Given the description of an element on the screen output the (x, y) to click on. 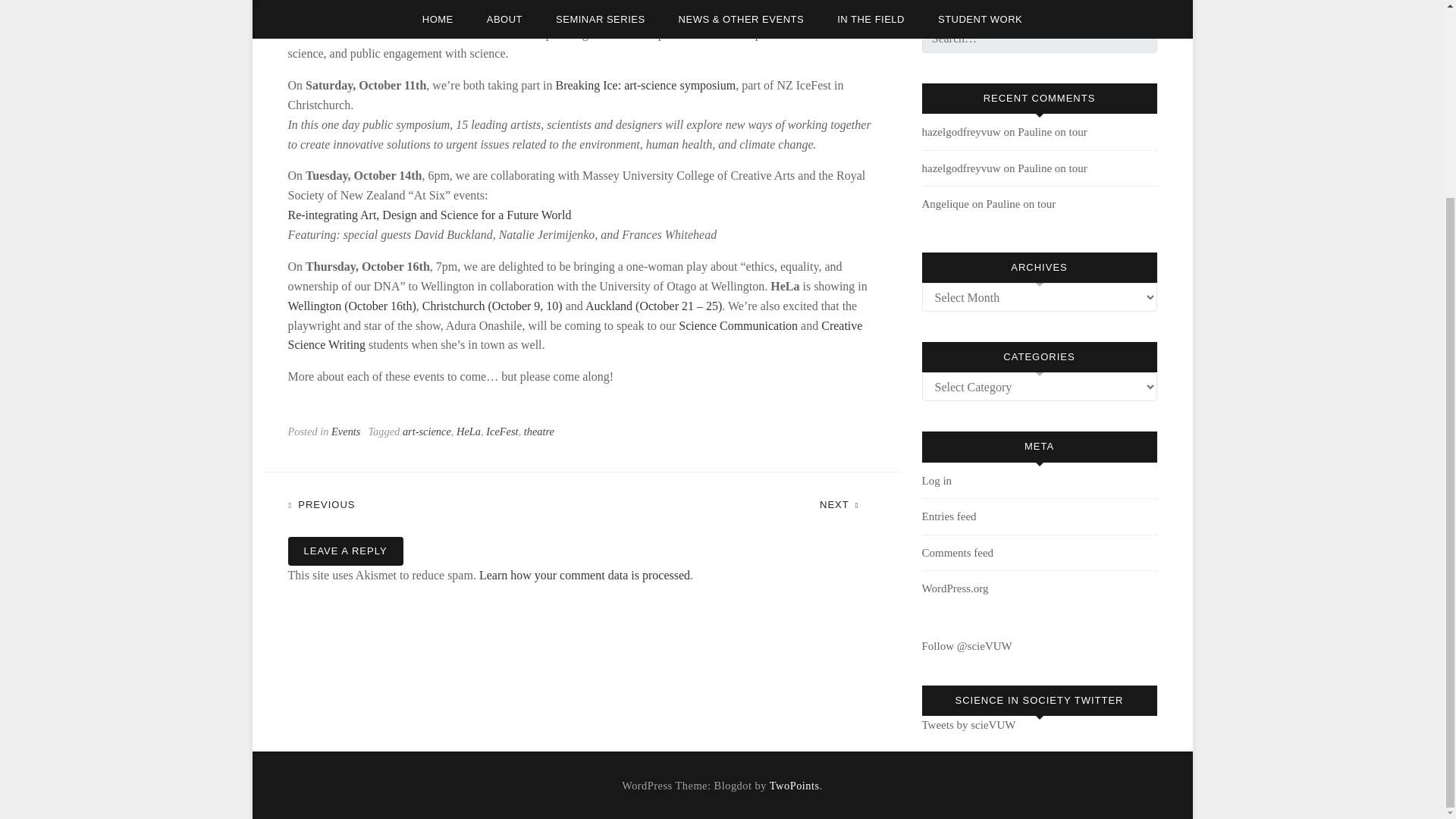
Science Communication (737, 325)
Pauline on tour (1052, 132)
LEAVE A REPLY (345, 551)
HeLa (468, 431)
theatre (539, 431)
PREVIOUS (329, 502)
SCIE 311 Science Communication (737, 325)
Re-integrating Art, Design and Science for a Future World (430, 214)
Breaking Ice (646, 84)
Learn how your comment data is processed (584, 574)
art-science (427, 431)
HeLa chch (492, 305)
IceFest (502, 431)
Creative Science Writing (575, 335)
Events (345, 431)
